Given the description of an element on the screen output the (x, y) to click on. 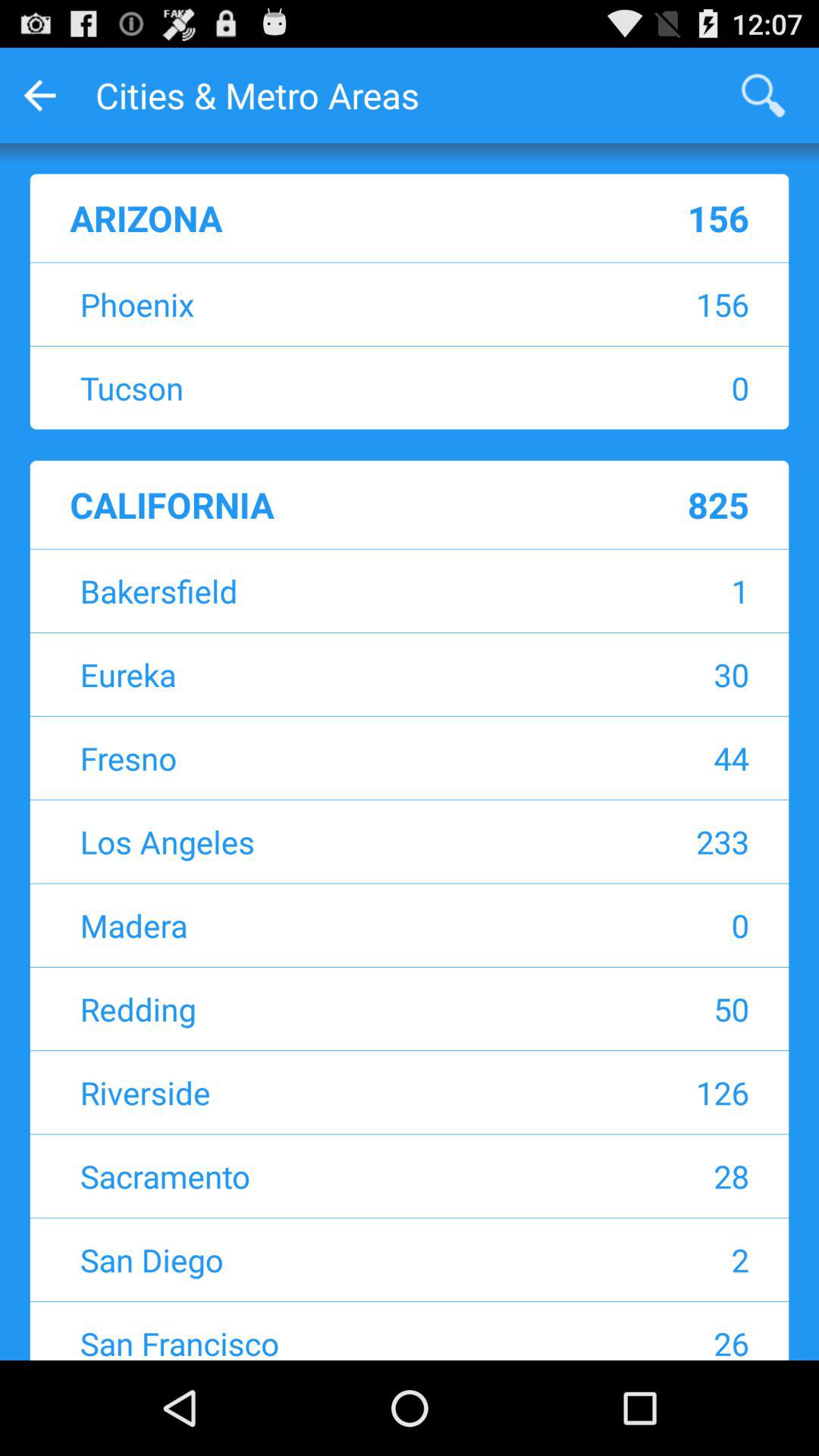
turn off icon to the right of the redding (649, 1008)
